Given the description of an element on the screen output the (x, y) to click on. 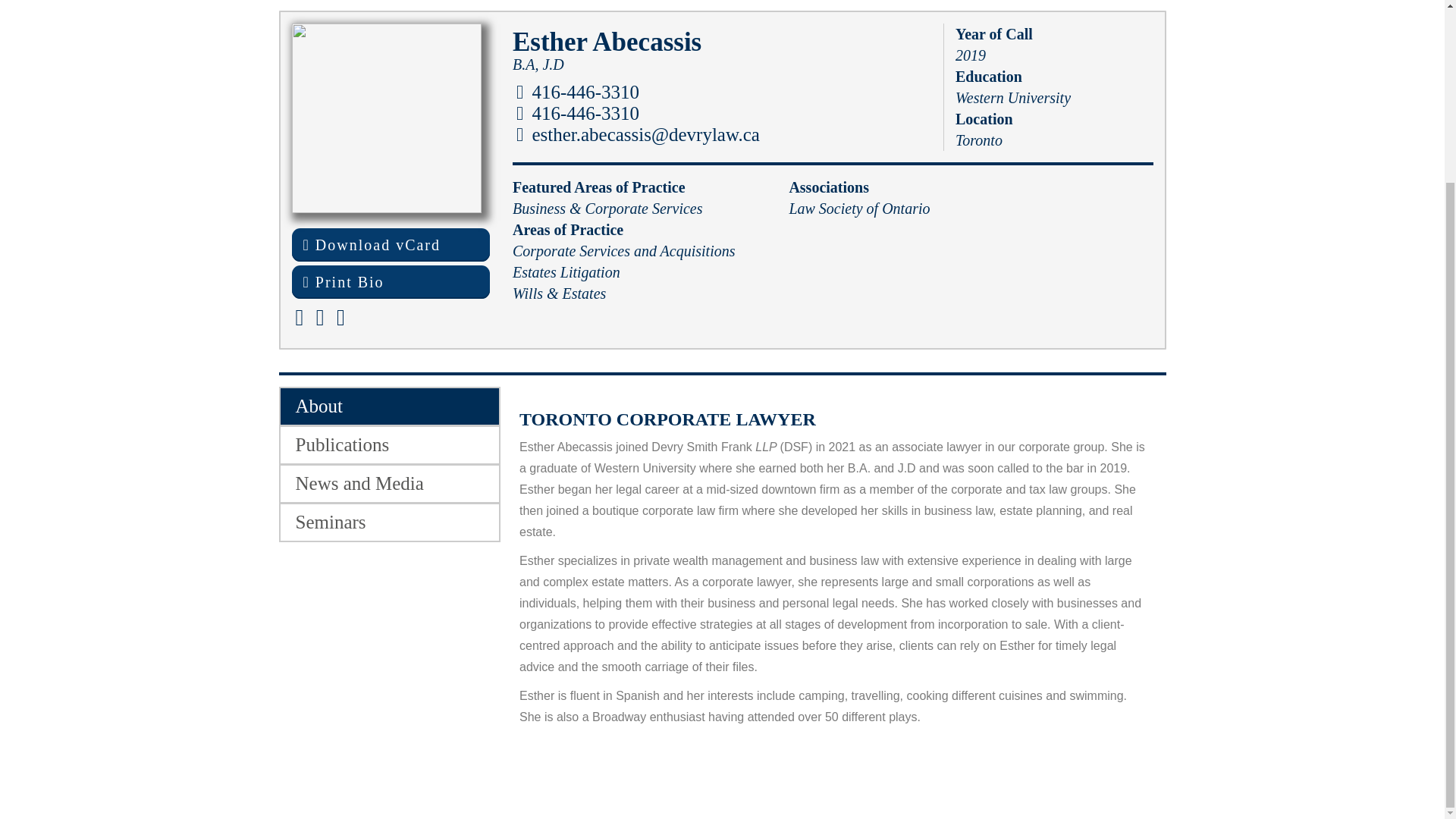
Email (638, 134)
Fax (577, 113)
Print Bio (390, 281)
Phone (577, 91)
Download VCard (390, 244)
